Given the description of an element on the screen output the (x, y) to click on. 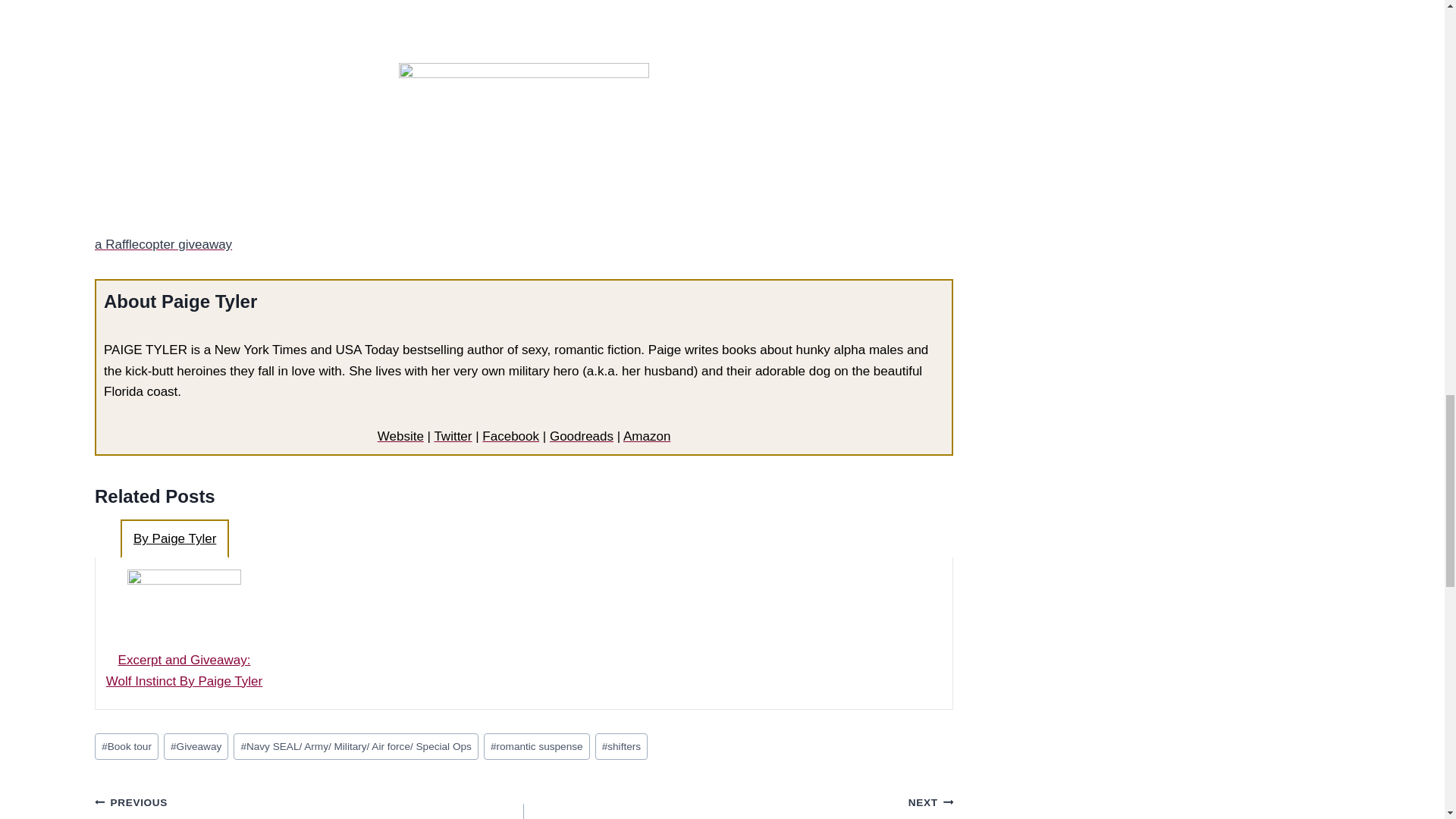
a Rafflecopter giveaway (162, 244)
Giveaway (195, 746)
romantic suspense (536, 746)
Book tour (126, 746)
Website (400, 436)
shifters (621, 746)
